Given the description of an element on the screen output the (x, y) to click on. 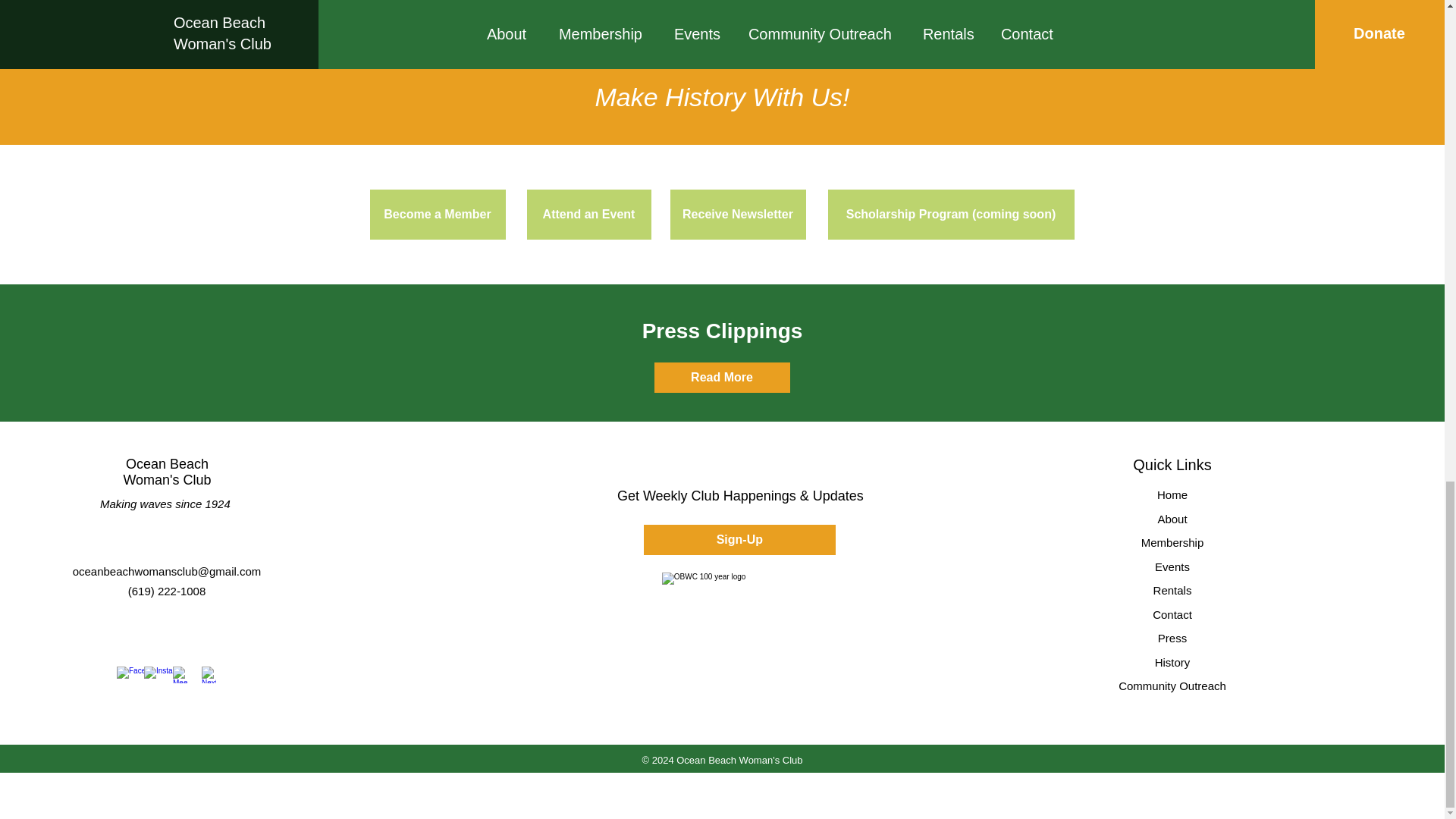
Community Outreach (1171, 685)
Rentals (1172, 590)
Read More (721, 377)
Contact (1172, 614)
Become a Member (437, 214)
Attend an Event (587, 214)
Receive Newsletter (737, 214)
About (1171, 518)
Home (1172, 494)
Sign-Up (739, 539)
Membership (1172, 542)
History (1172, 662)
Press (1171, 637)
Events (1171, 566)
